Given the description of an element on the screen output the (x, y) to click on. 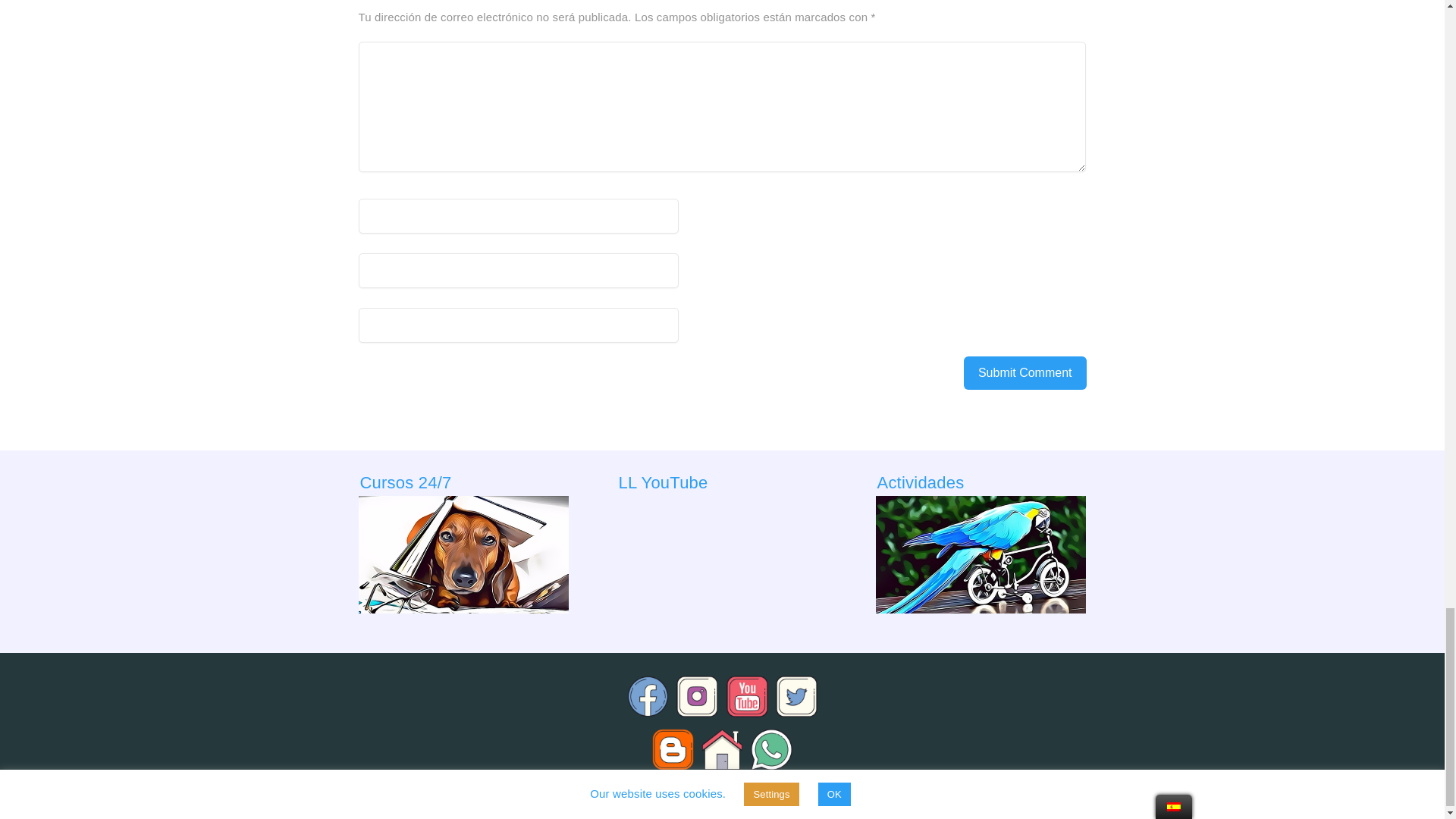
Submit Comment (1024, 372)
